Given the description of an element on the screen output the (x, y) to click on. 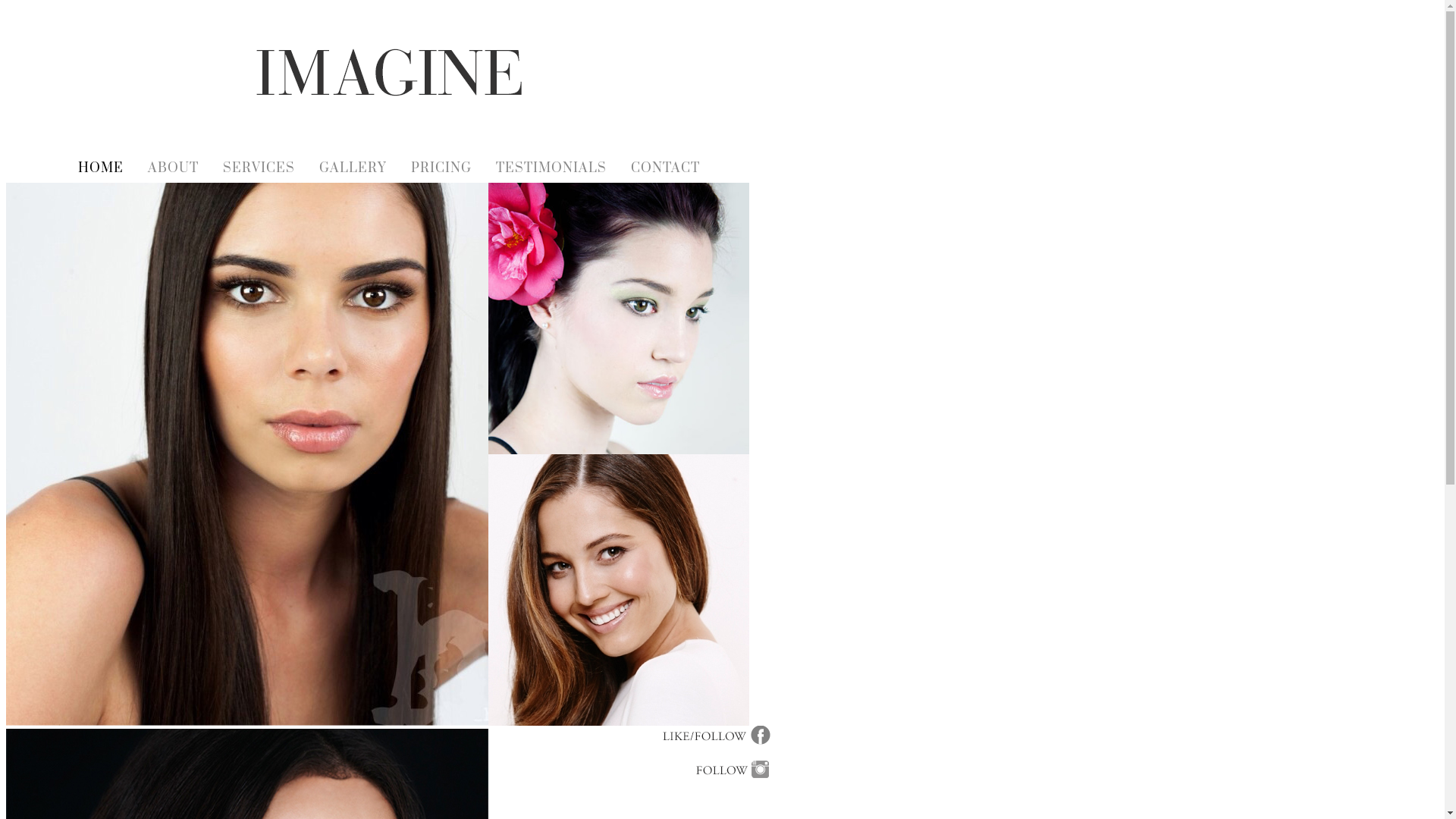
ABOUT Element type: text (172, 167)
GALLERY Element type: text (352, 167)
CONTACT Element type: text (665, 167)
SERVICES Element type: text (258, 167)
TESTIMONIALS Element type: text (550, 167)
HOME Element type: text (100, 167)
PRICING Element type: text (440, 167)
